Given the description of an element on the screen output the (x, y) to click on. 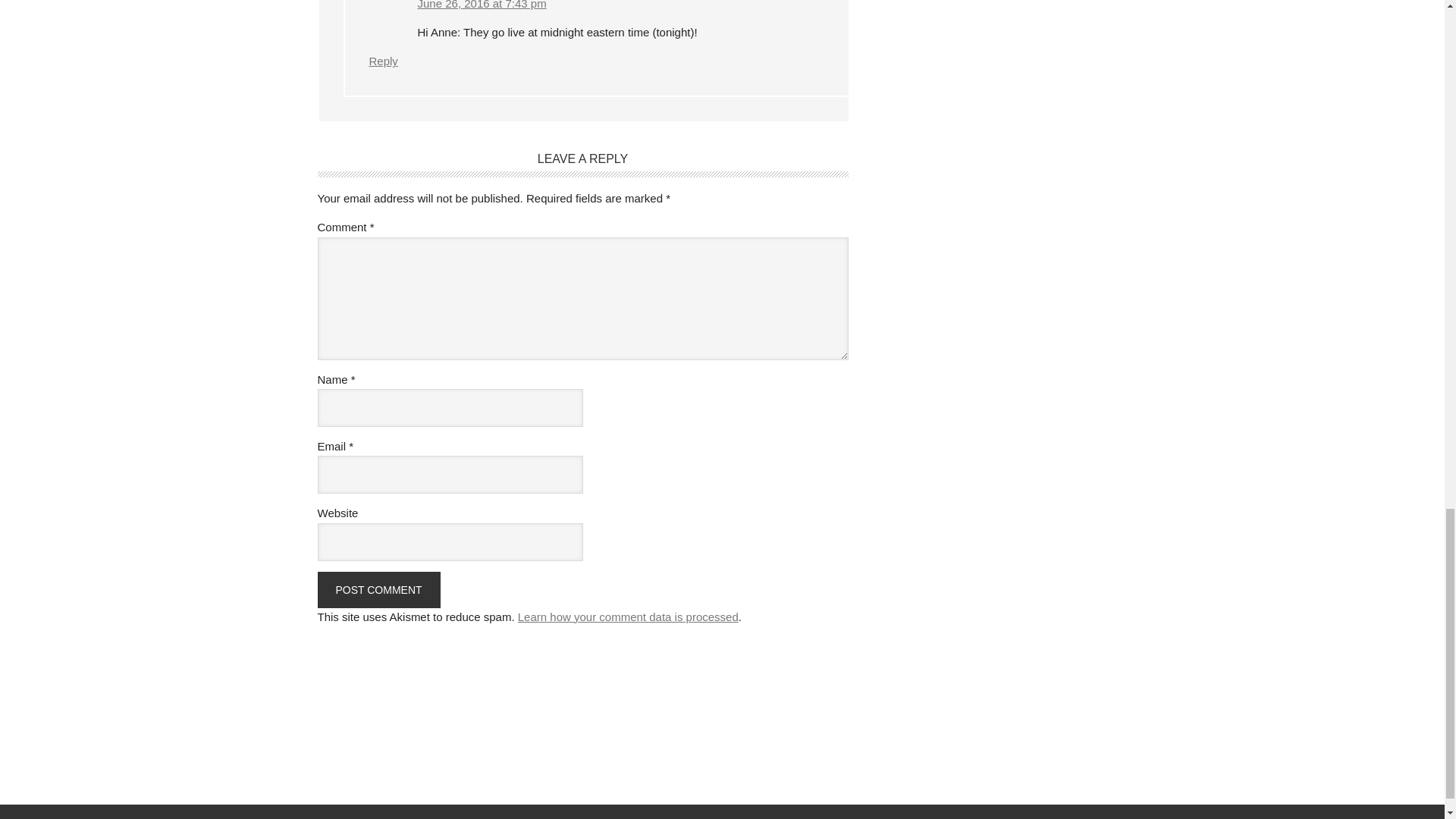
Post Comment (378, 589)
June 26, 2016 at 7:43 pm (481, 4)
Reply (382, 60)
Post Comment (378, 589)
Learn how your comment data is processed (628, 616)
